Given the description of an element on the screen output the (x, y) to click on. 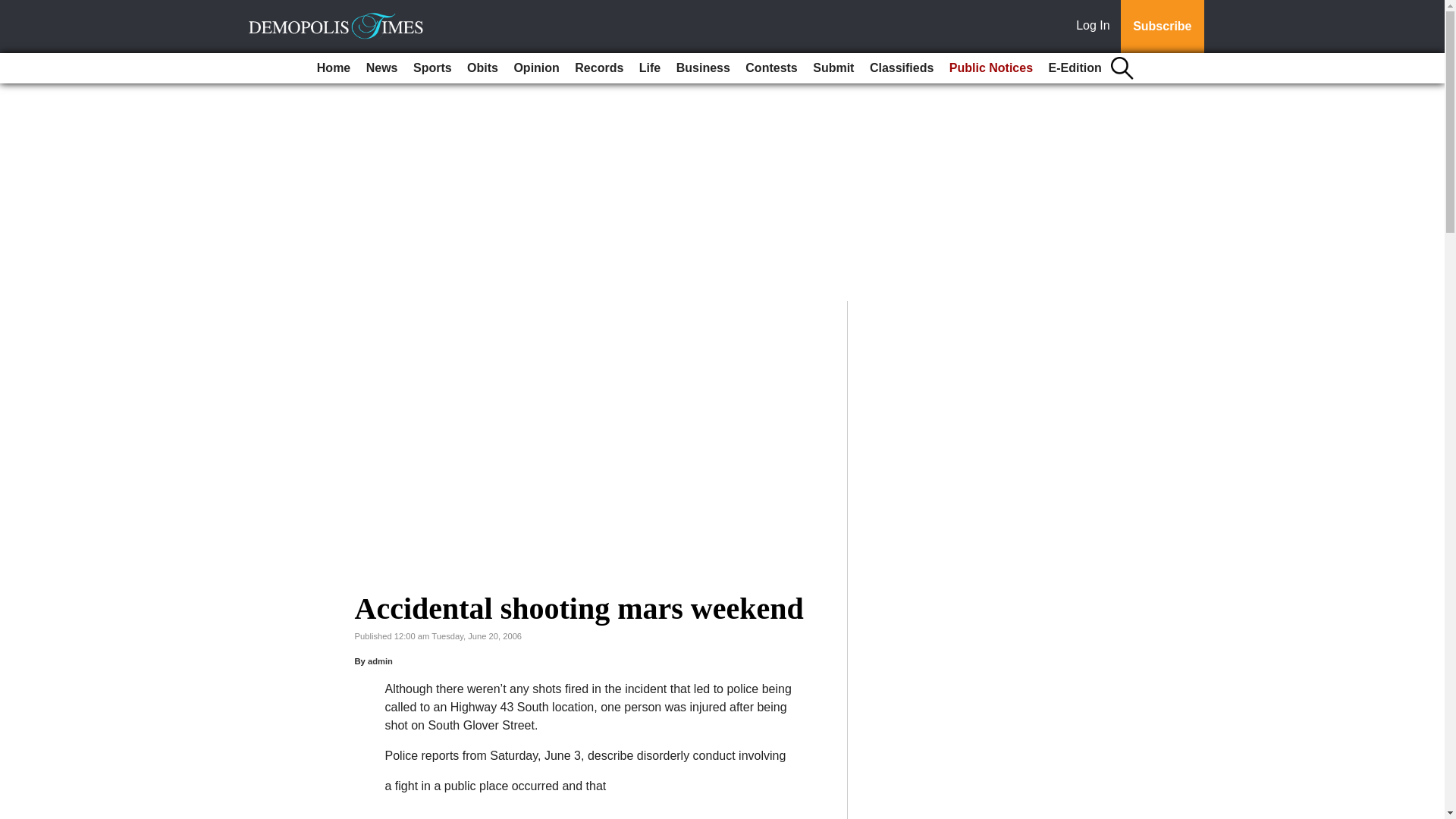
Obits (482, 68)
Business (702, 68)
Life (649, 68)
Opinion (535, 68)
E-Edition (1075, 68)
Sports (432, 68)
Records (598, 68)
admin (380, 660)
Submit (833, 68)
Contests (771, 68)
Classifieds (901, 68)
News (381, 68)
Subscribe (1162, 26)
Public Notices (991, 68)
Home (333, 68)
